Given the description of an element on the screen output the (x, y) to click on. 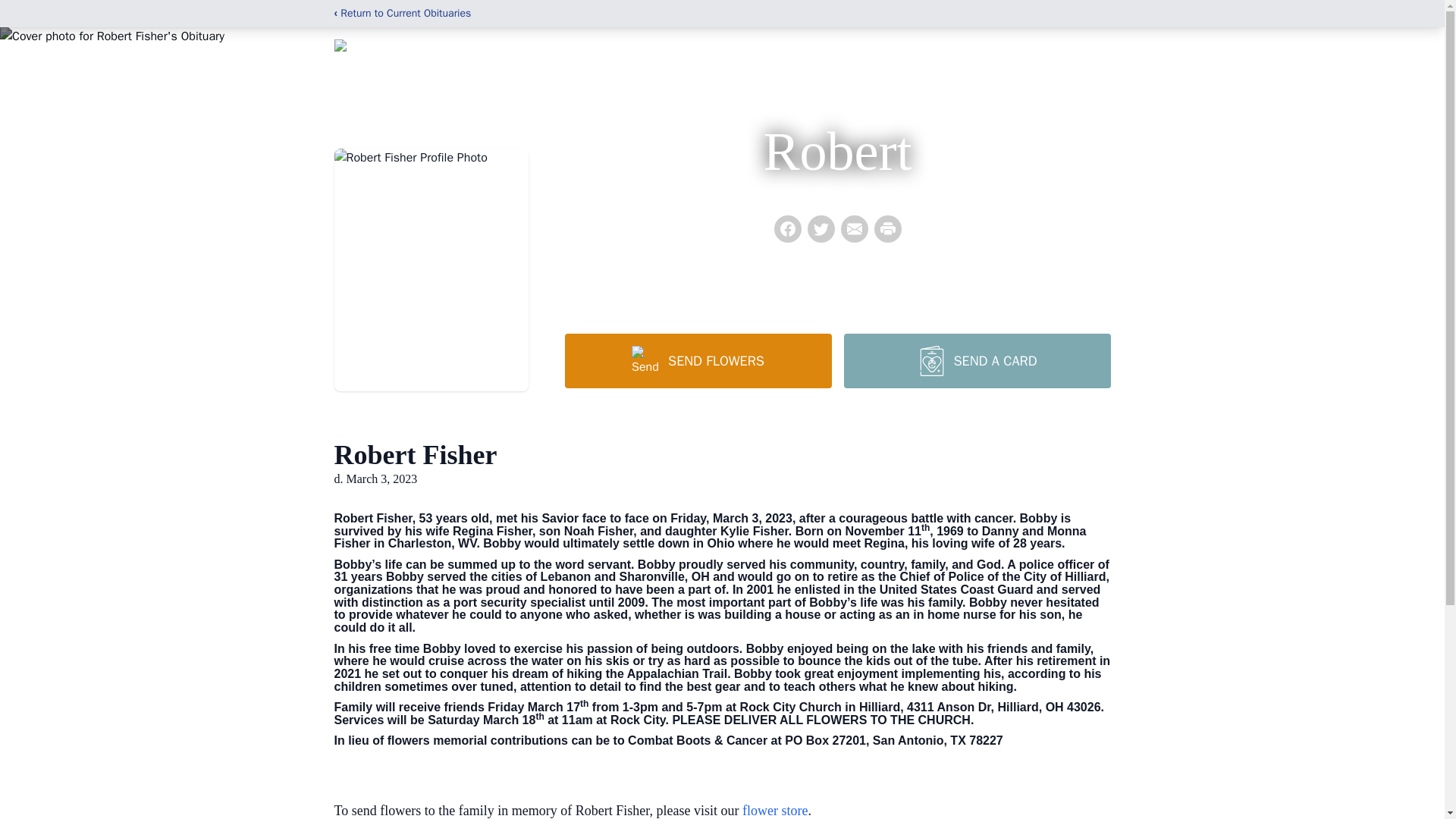
SEND A CARD (976, 360)
SEND FLOWERS (697, 360)
flower store (775, 810)
